Given the description of an element on the screen output the (x, y) to click on. 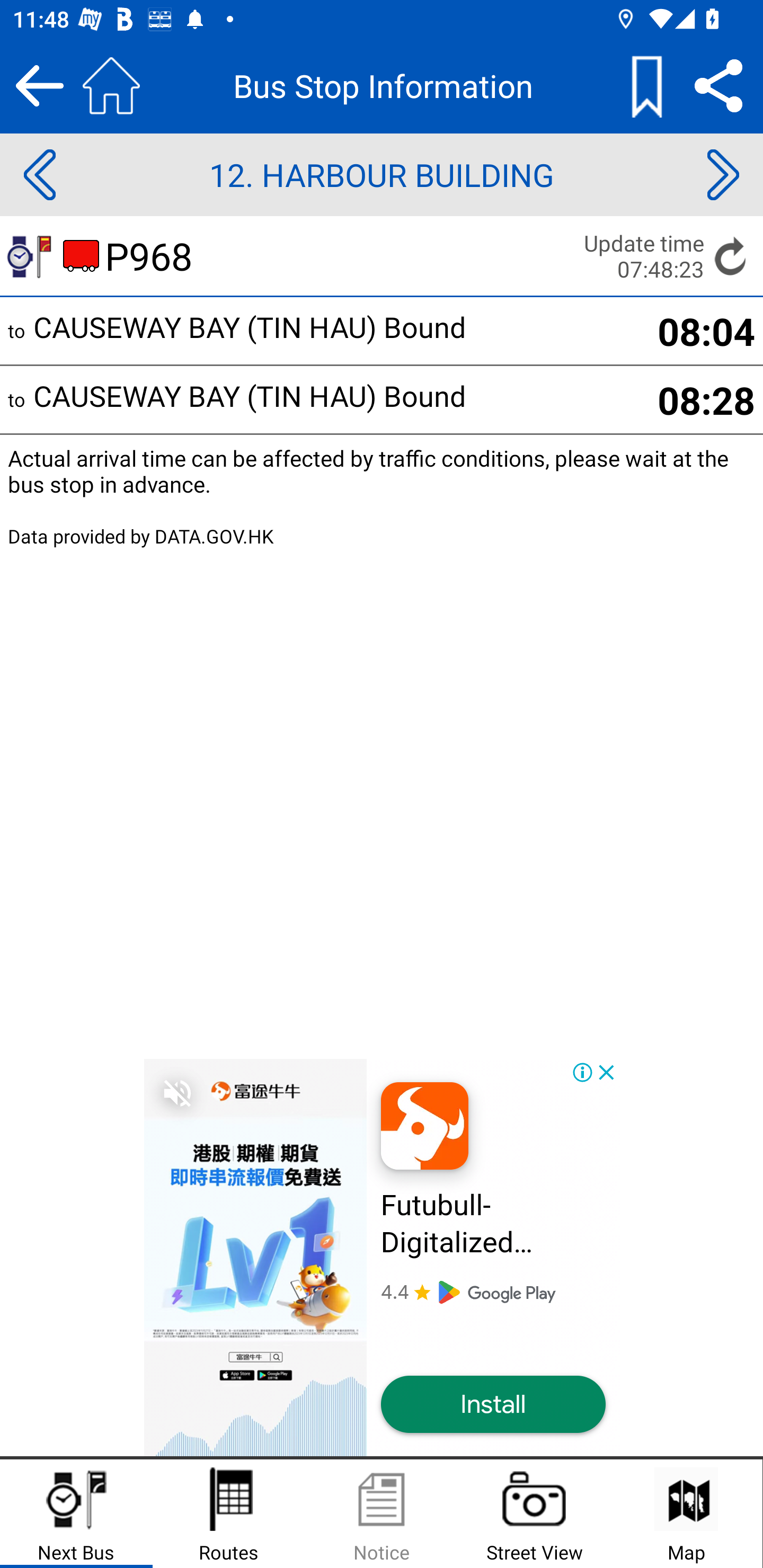
Jump to home page (111, 85)
Add bookmark (646, 85)
Share point to point route search criteria) (718, 85)
Back (39, 85)
Previous stop (39, 174)
Next stop (723, 174)
Refresh (731, 255)
Install (492, 1404)
Next Bus (76, 1513)
Routes (228, 1513)
Notice (381, 1513)
Street View (533, 1513)
Map (686, 1513)
